Given the description of an element on the screen output the (x, y) to click on. 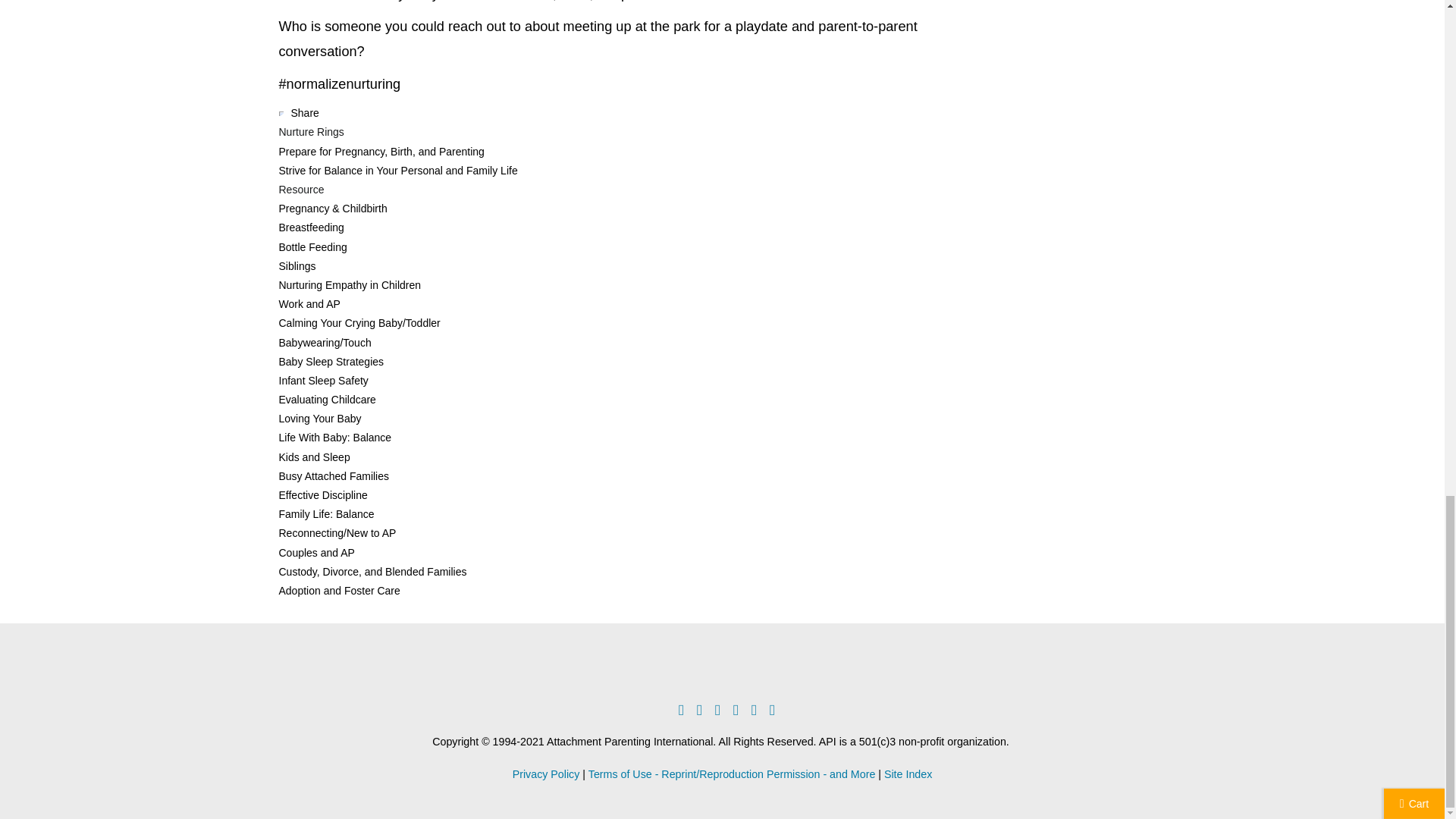
Prepare for Pregnancy, Birth, and Parenting (381, 151)
Share (304, 112)
Siblings (297, 265)
Bottle Feeding (313, 246)
Baby Sleep Strategies (331, 361)
Strive for Balance in Your Personal and Family Life (398, 170)
Family Life: Balance (326, 513)
Work and AP (309, 304)
Couples and AP (317, 552)
Breastfeeding (311, 227)
